Given the description of an element on the screen output the (x, y) to click on. 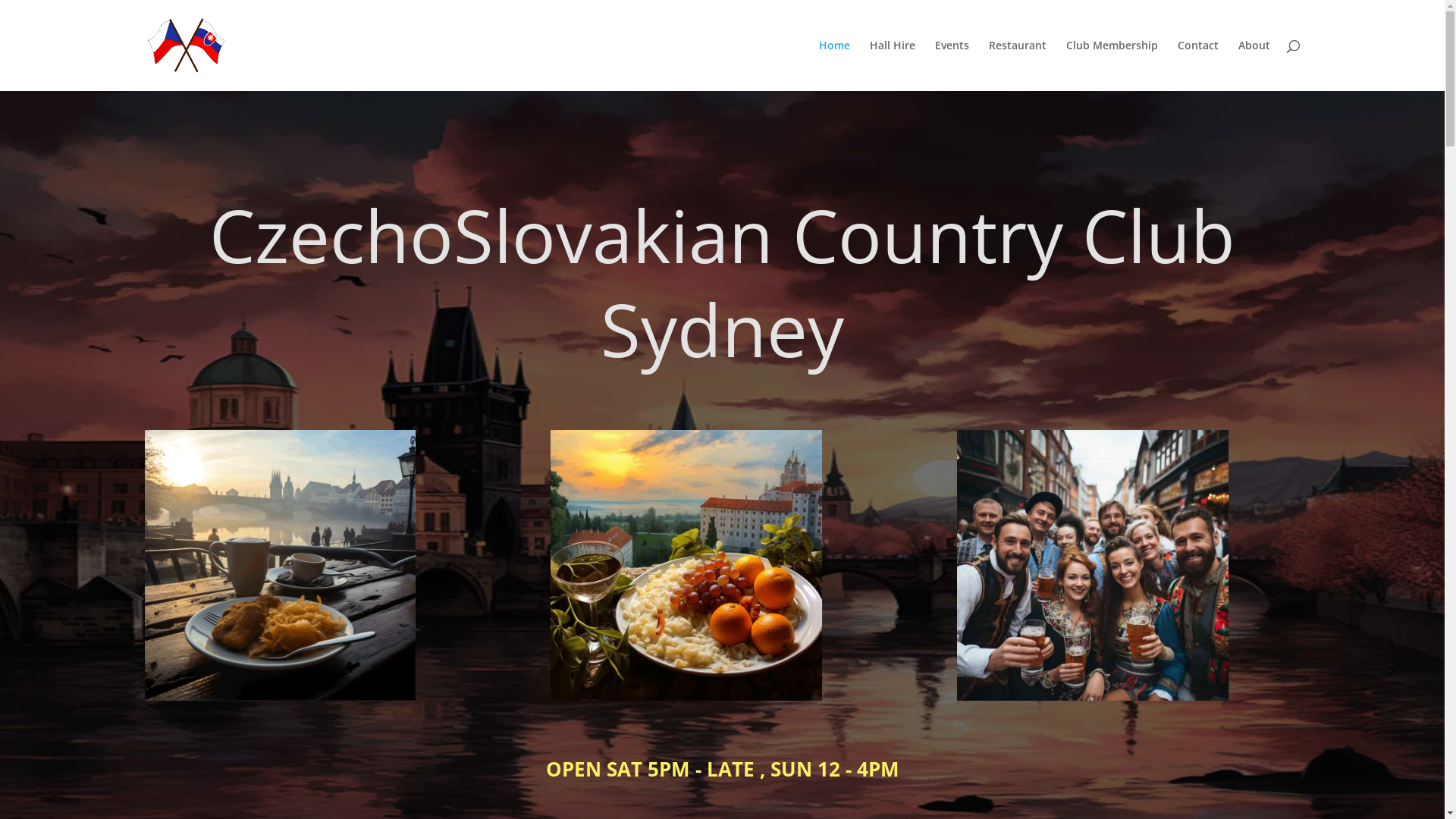
Contact Element type: text (1196, 65)
lidi Element type: hover (1092, 564)
Club Membership Element type: text (1111, 65)
Home Element type: text (834, 65)
Bratislava Element type: hover (685, 564)
Events Element type: text (951, 65)
Hall Hire Element type: text (891, 65)
Schnitzei-in-Prague Element type: hover (279, 564)
About Element type: text (1253, 65)
Restaurant Element type: text (1017, 65)
